Given the description of an element on the screen output the (x, y) to click on. 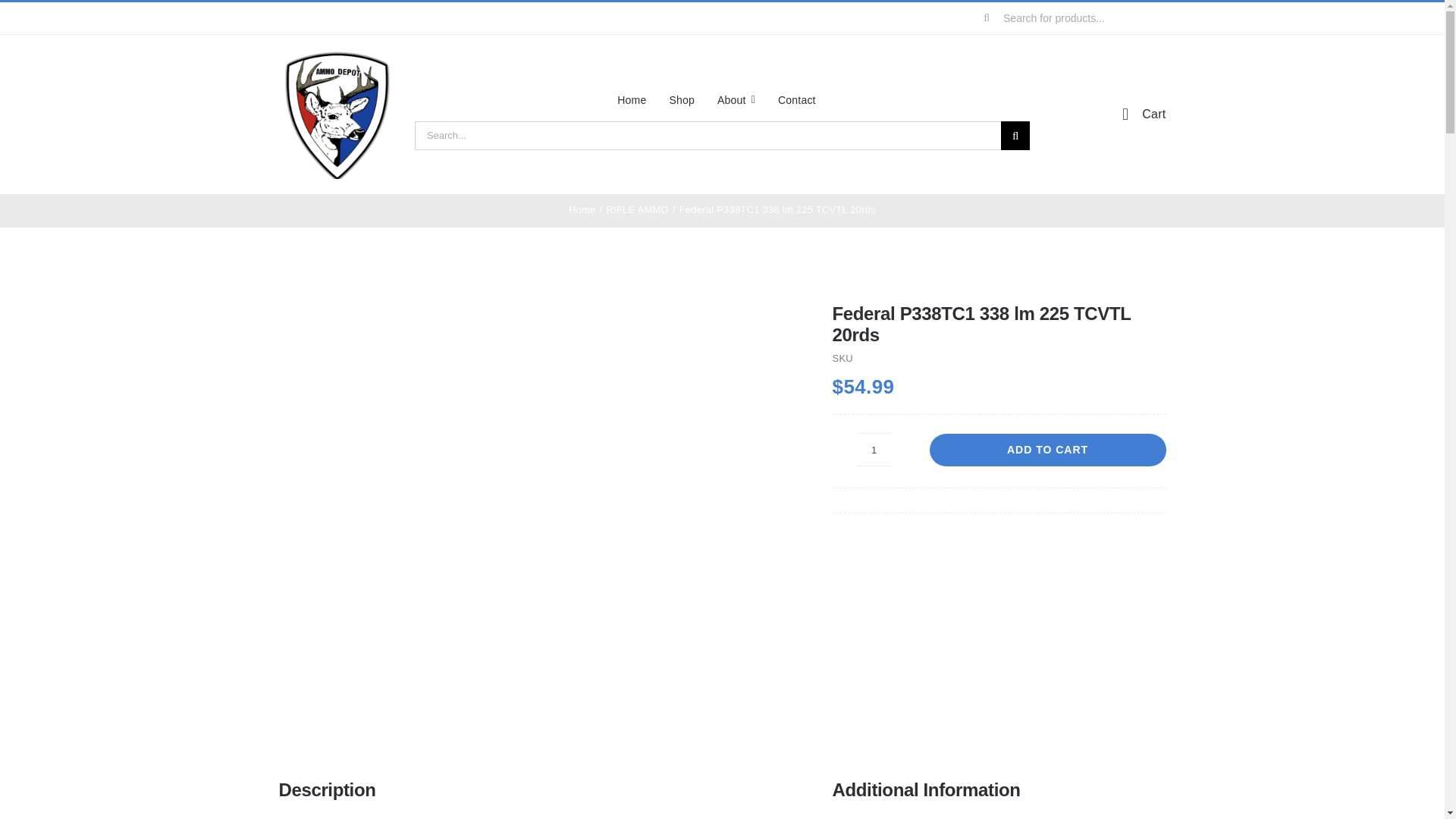
1 (874, 449)
Contact (796, 99)
ADD TO CART (1048, 450)
About (736, 99)
RIFLE AMMO (636, 209)
Home (582, 209)
